Given the description of an element on the screen output the (x, y) to click on. 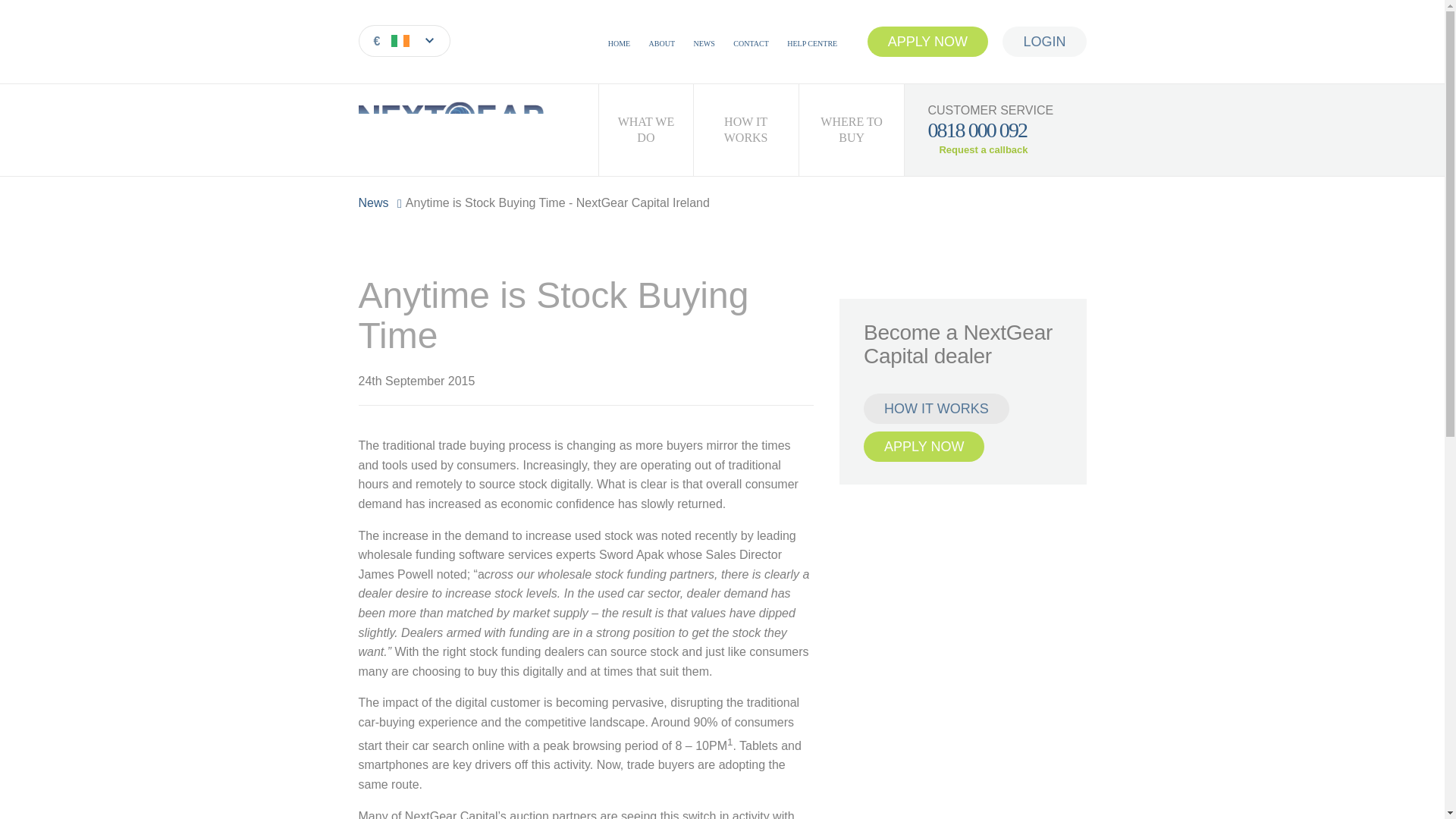
APPLY NOW (927, 41)
WHERE TO BUY (851, 130)
APPLY NOW (923, 446)
LOGIN (1044, 41)
Request a callback (977, 149)
HOME (619, 43)
HELP CENTRE (812, 43)
CONTACT (750, 43)
HOW IT WORKS (936, 408)
ABOUT (662, 43)
HOW IT WORKS (745, 130)
NEWS (704, 43)
Select Your Currency (403, 40)
News (373, 202)
NextGear Capital (470, 129)
